Given the description of an element on the screen output the (x, y) to click on. 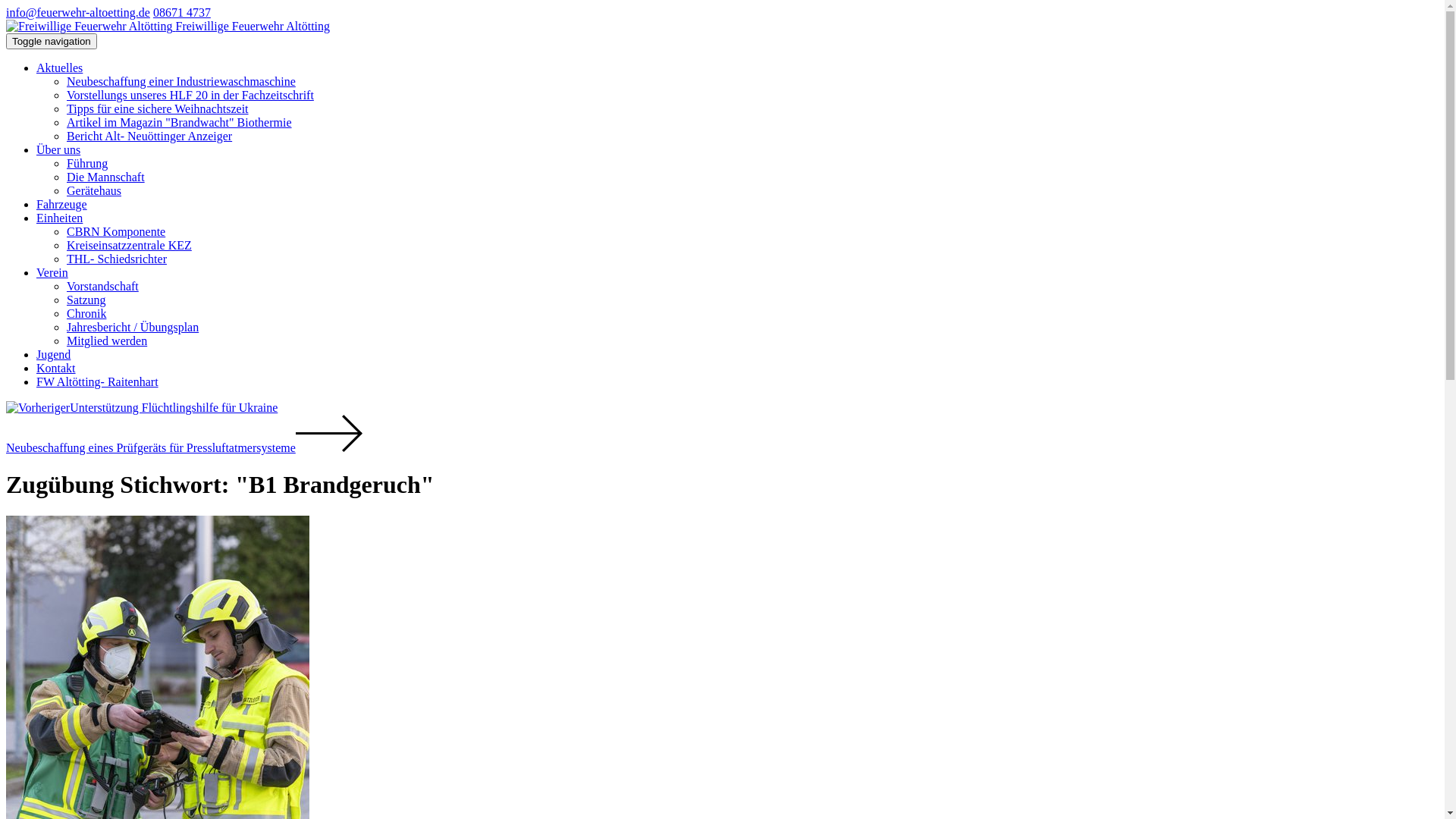
Aktuelles Element type: text (59, 67)
Mitglied werden Element type: text (106, 340)
THL- Schiedsrichter Element type: text (116, 258)
Vorheriger Element type: hover (37, 407)
Vorstellungs unseres HLF 20 in der Fachzeitschrift Element type: text (189, 94)
CBRN Komponente Element type: text (115, 231)
Verein Element type: text (52, 272)
Toggle navigation Element type: text (51, 41)
08671 4737 Element type: text (181, 12)
Vorstandschaft Element type: text (102, 285)
Fahrzeuge Element type: text (61, 203)
Die Mannschaft Element type: text (105, 176)
Artikel im Magazin "Brandwacht" Biothermie Element type: text (178, 122)
Einheiten Element type: text (59, 217)
info@feuerwehr-altoetting.de Element type: text (78, 12)
Chronik Element type: text (86, 313)
Satzung Element type: text (86, 299)
Kontakt Element type: text (55, 367)
Neubeschaffung einer Industriewaschmaschine Element type: text (180, 81)
Kreiseinsatzzentrale KEZ Element type: text (128, 244)
Jugend Element type: text (53, 354)
